Given the description of an element on the screen output the (x, y) to click on. 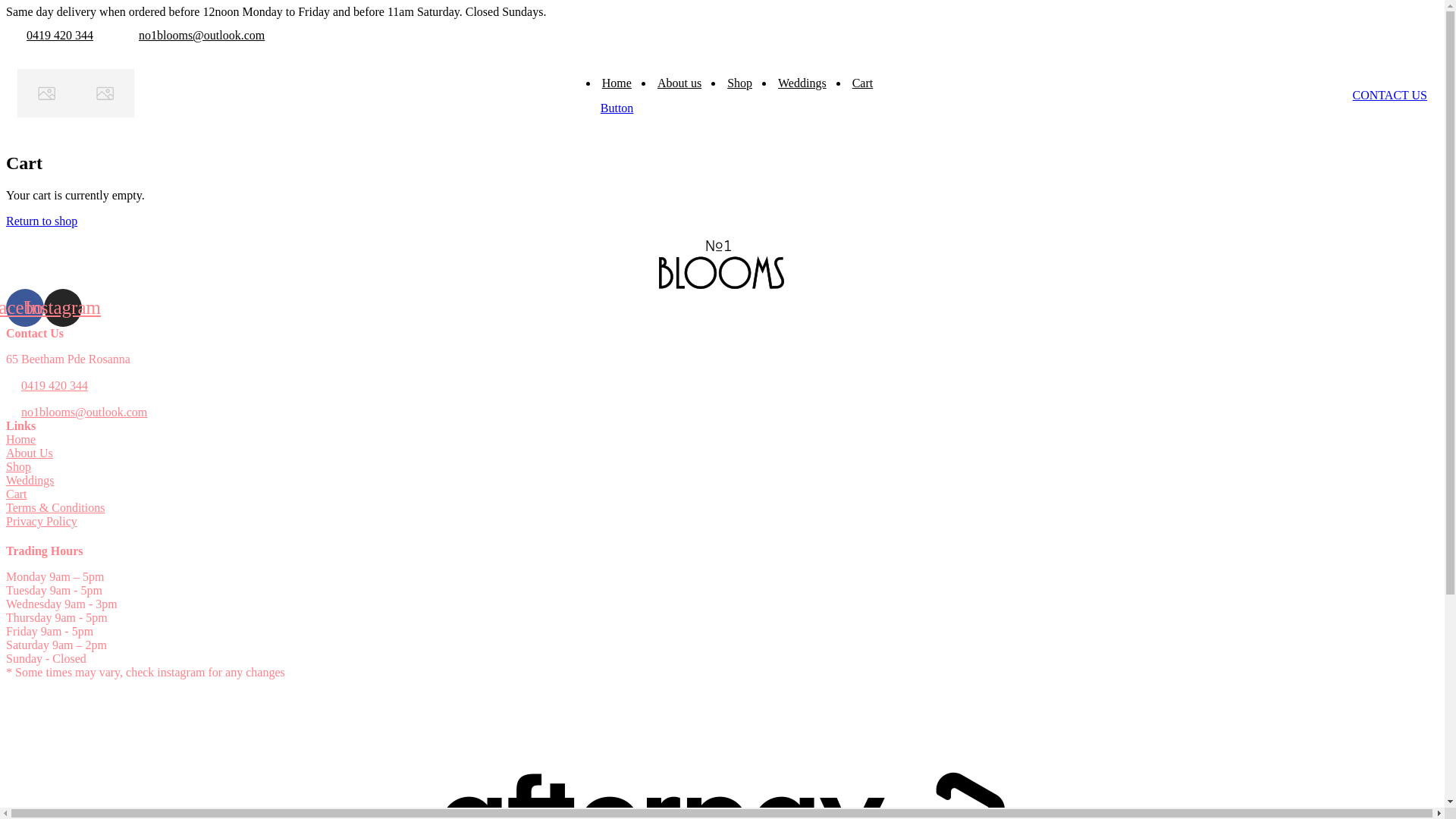
Privacy Policy Element type: text (41, 520)
Shop Element type: text (18, 466)
0419 420 344 Element type: text (59, 34)
Home Element type: text (616, 82)
Shop Element type: text (739, 82)
Terms & Conditions Element type: text (55, 507)
About us Element type: text (679, 82)
Button Element type: text (616, 108)
no1blooms@outlook.com Element type: text (84, 412)
Facebook Element type: text (24, 307)
About Us Element type: text (29, 452)
Cart Element type: text (862, 82)
0419 420 344 Element type: text (54, 385)
Weddings Element type: text (802, 82)
Home Element type: text (20, 439)
CONTACT US Element type: text (1389, 94)
no1blooms@outlook.com Element type: text (201, 34)
Return to shop Element type: text (41, 220)
Instagram Element type: text (62, 307)
Cart Element type: text (16, 493)
Weddings Element type: text (30, 479)
